Given the description of an element on the screen output the (x, y) to click on. 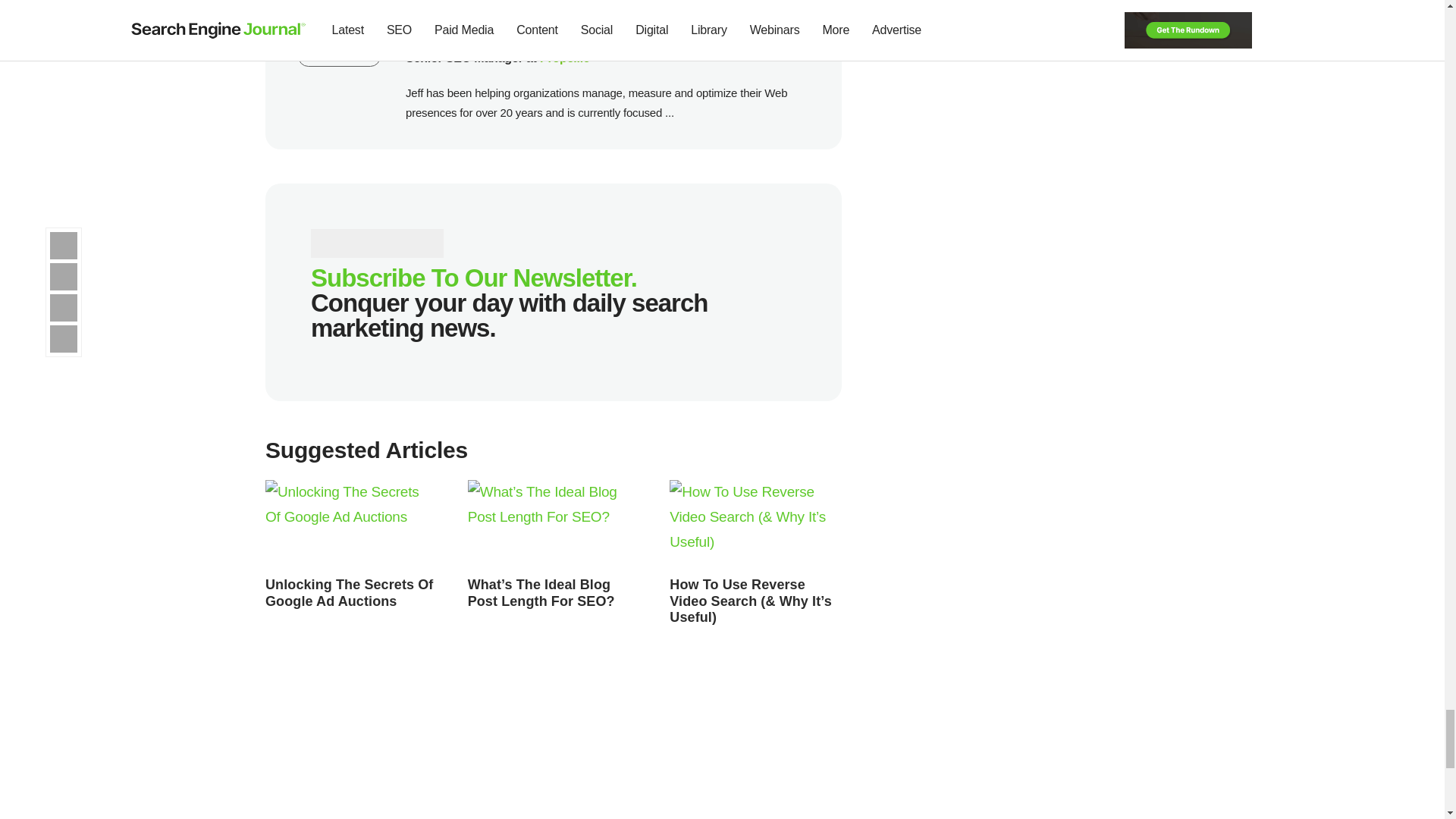
Read the Article (755, 524)
Read the Article (540, 593)
Read the Article (553, 524)
Read the Article (351, 524)
Read the Article (348, 593)
Read the Article (750, 600)
